Given the description of an element on the screen output the (x, y) to click on. 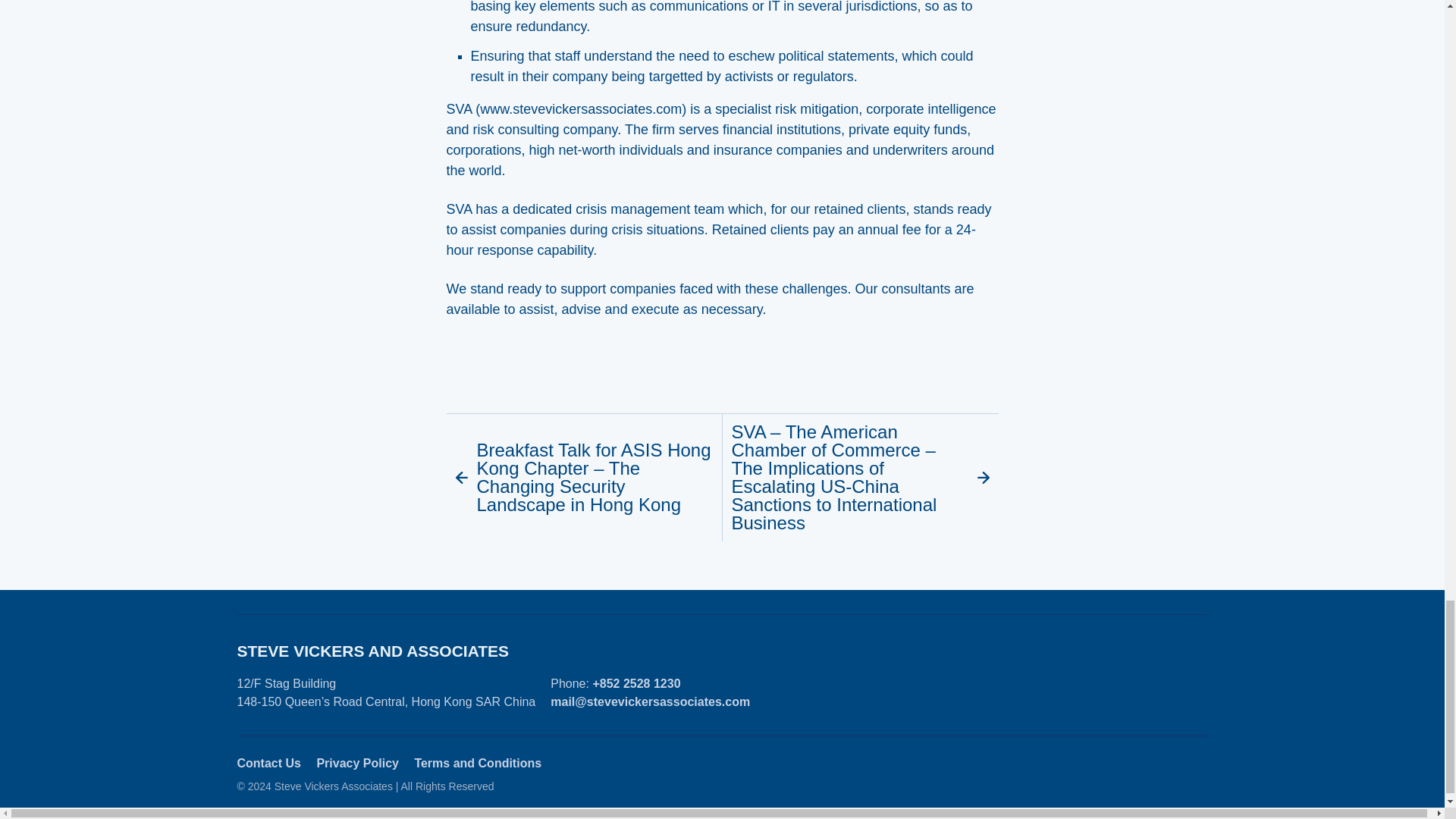
www.stevevickersassociates.com (580, 109)
Terms and Conditions (477, 762)
Contact Us (267, 762)
Privacy Policy (356, 762)
